Given the description of an element on the screen output the (x, y) to click on. 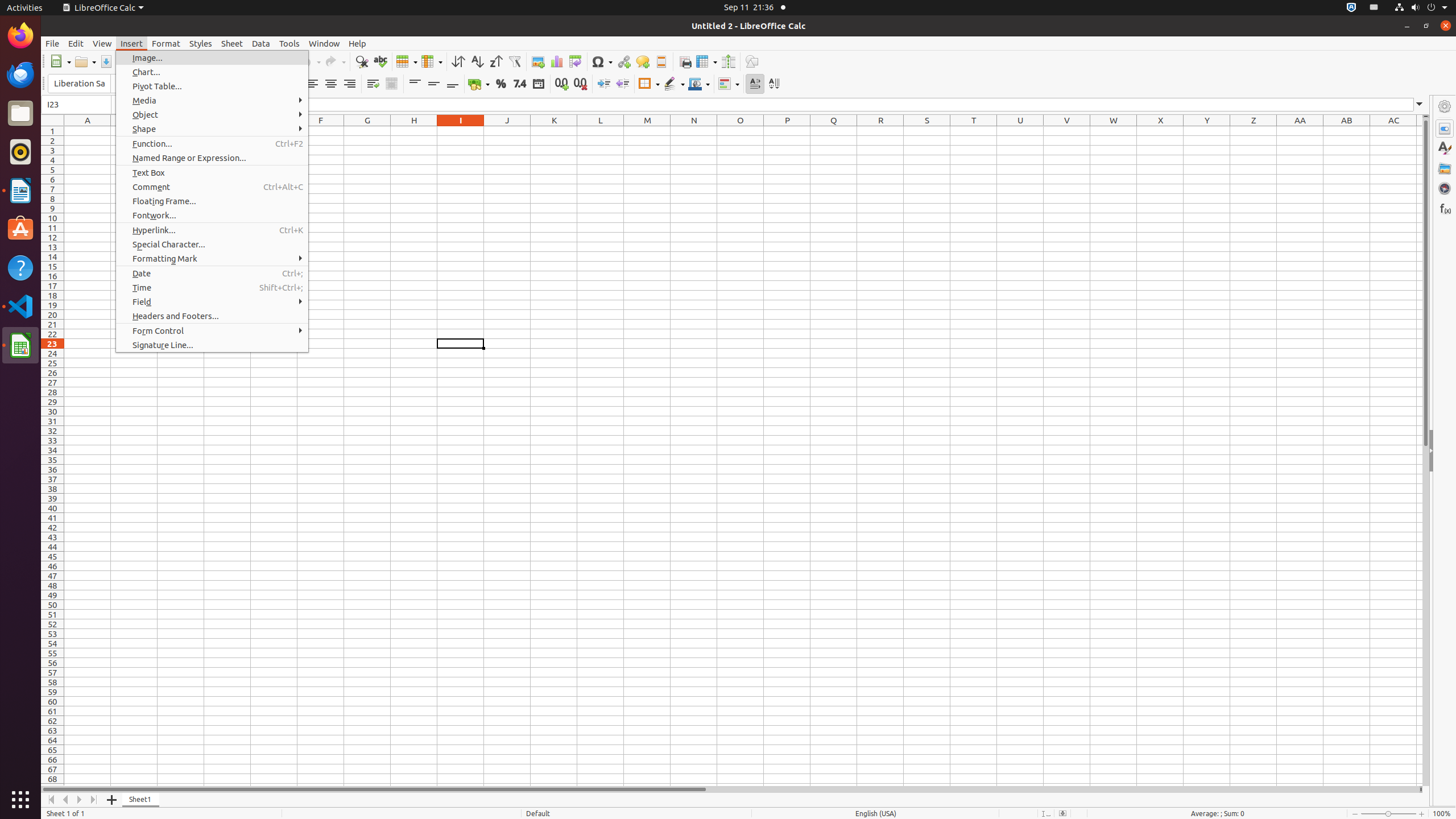
K1 Element type: table-cell (553, 130)
Q1 Element type: table-cell (833, 130)
Date Element type: push-button (537, 83)
Open Element type: push-button (84, 61)
Field Element type: menu (212, 301)
